Given the description of an element on the screen output the (x, y) to click on. 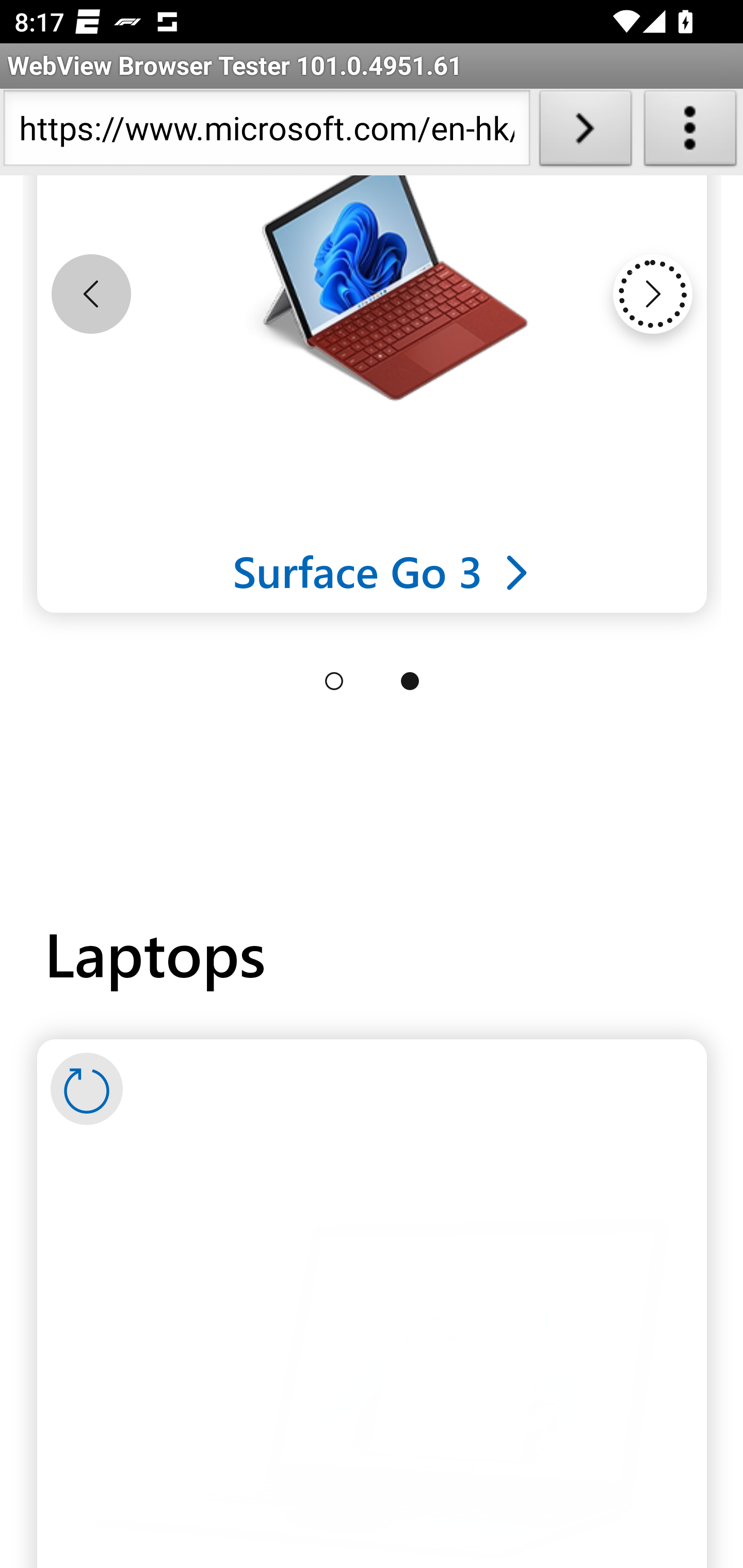
Load URL (585, 132)
About WebView (690, 132)
Previous slide (90, 294)
Next slide (652, 294)
Surface Go 3 information and details Surface Go 3 (381, 571)
Replay video (87, 1090)
